Given the description of an element on the screen output the (x, y) to click on. 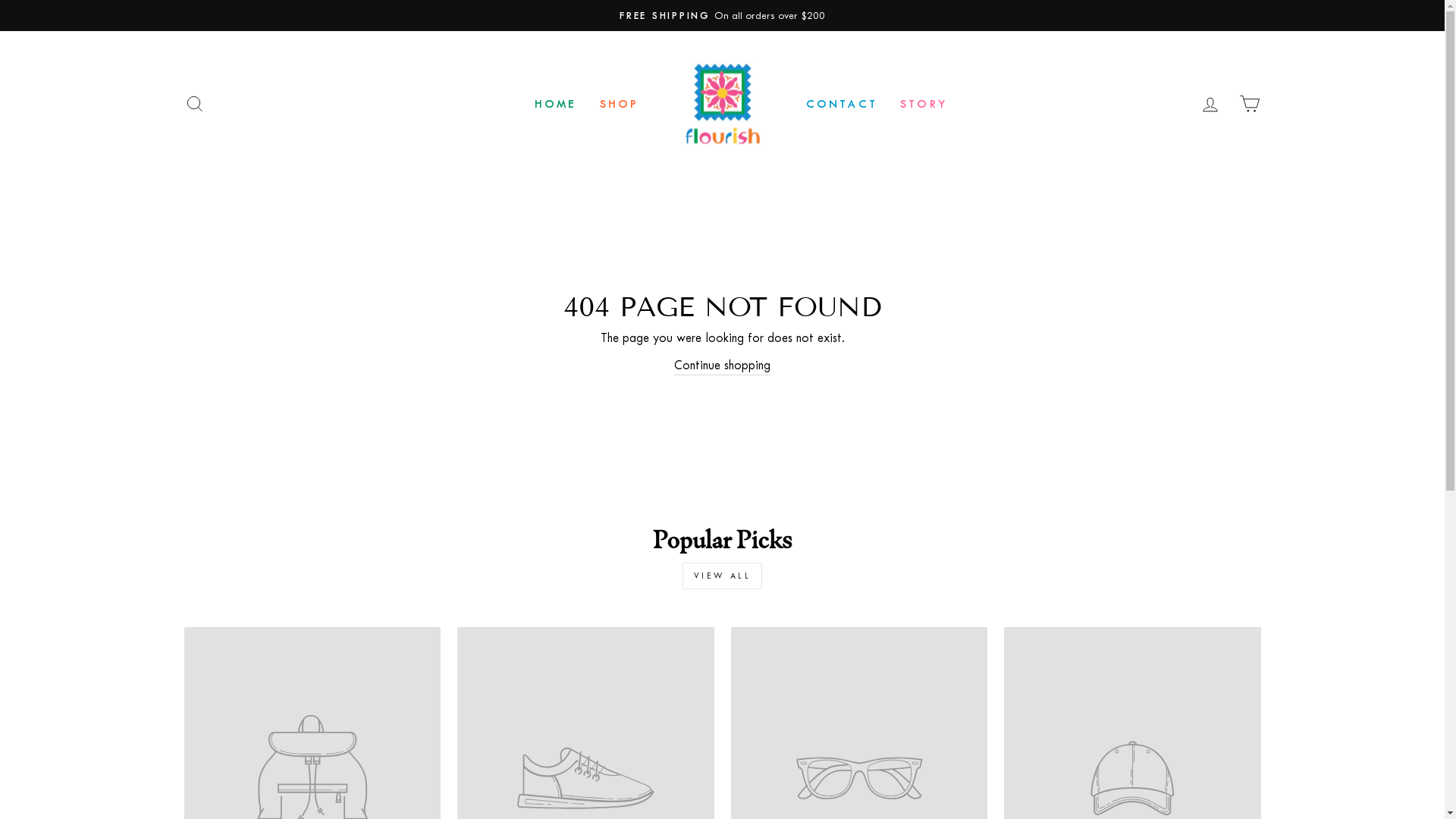
CART Element type: text (1249, 103)
SEARCH Element type: text (193, 103)
CONTACT Element type: text (841, 103)
HOME Element type: text (555, 103)
VIEW ALL Element type: text (722, 575)
STORY Element type: text (923, 103)
SHOP Element type: text (619, 103)
LOG IN Element type: text (1210, 103)
Skip to content Element type: text (0, 0)
Continue shopping Element type: text (722, 365)
